Given the description of an element on the screen output the (x, y) to click on. 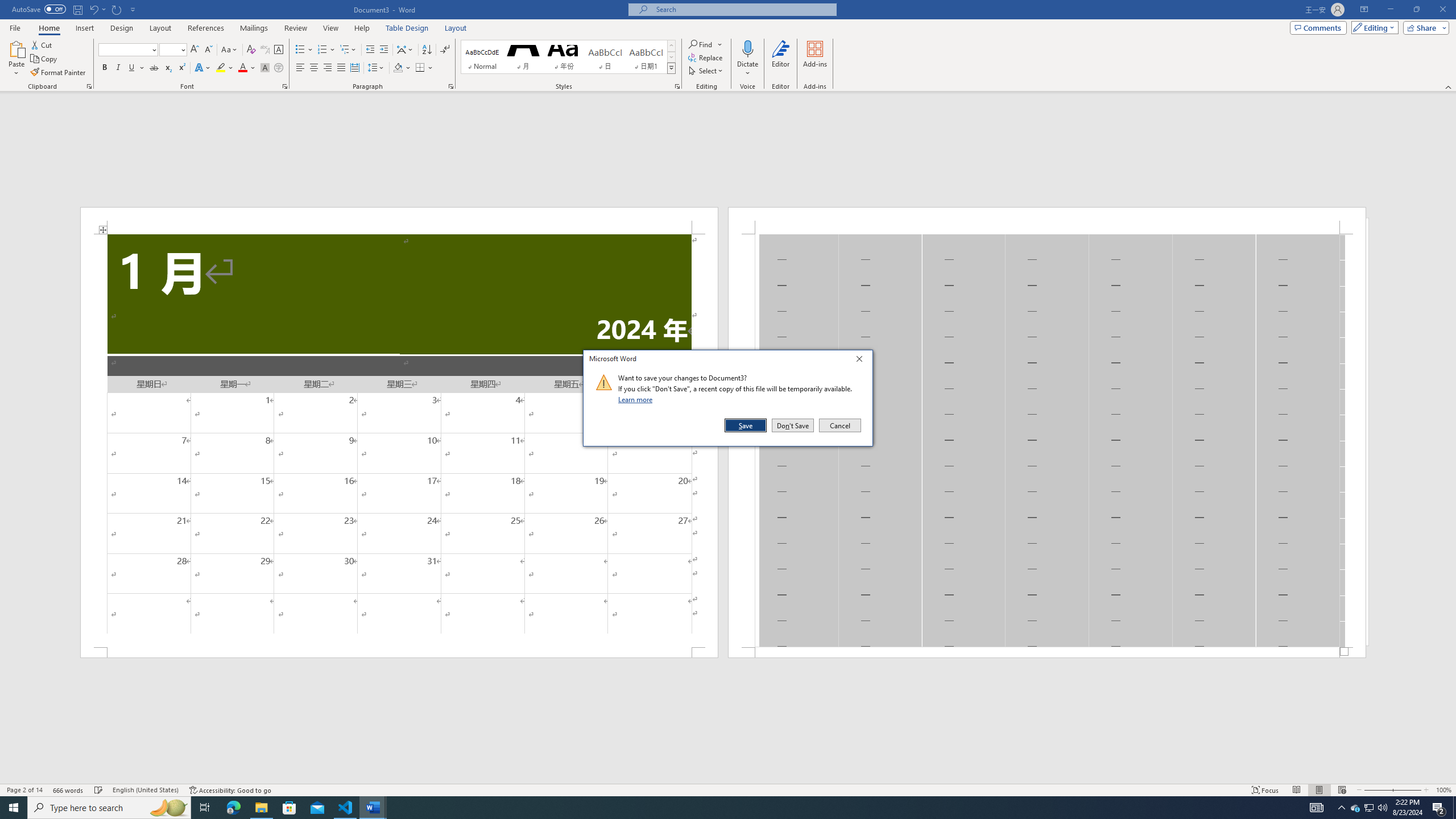
Repeat Style (117, 9)
Grow Font (193, 49)
Notification Chevron (1341, 807)
Table Design (407, 28)
Search highlights icon opens search home window (167, 807)
Spelling and Grammar Check Checking (98, 790)
Don't Save (792, 425)
Accessibility Checker Accessibility: Good to go (230, 790)
